Given the description of an element on the screen output the (x, y) to click on. 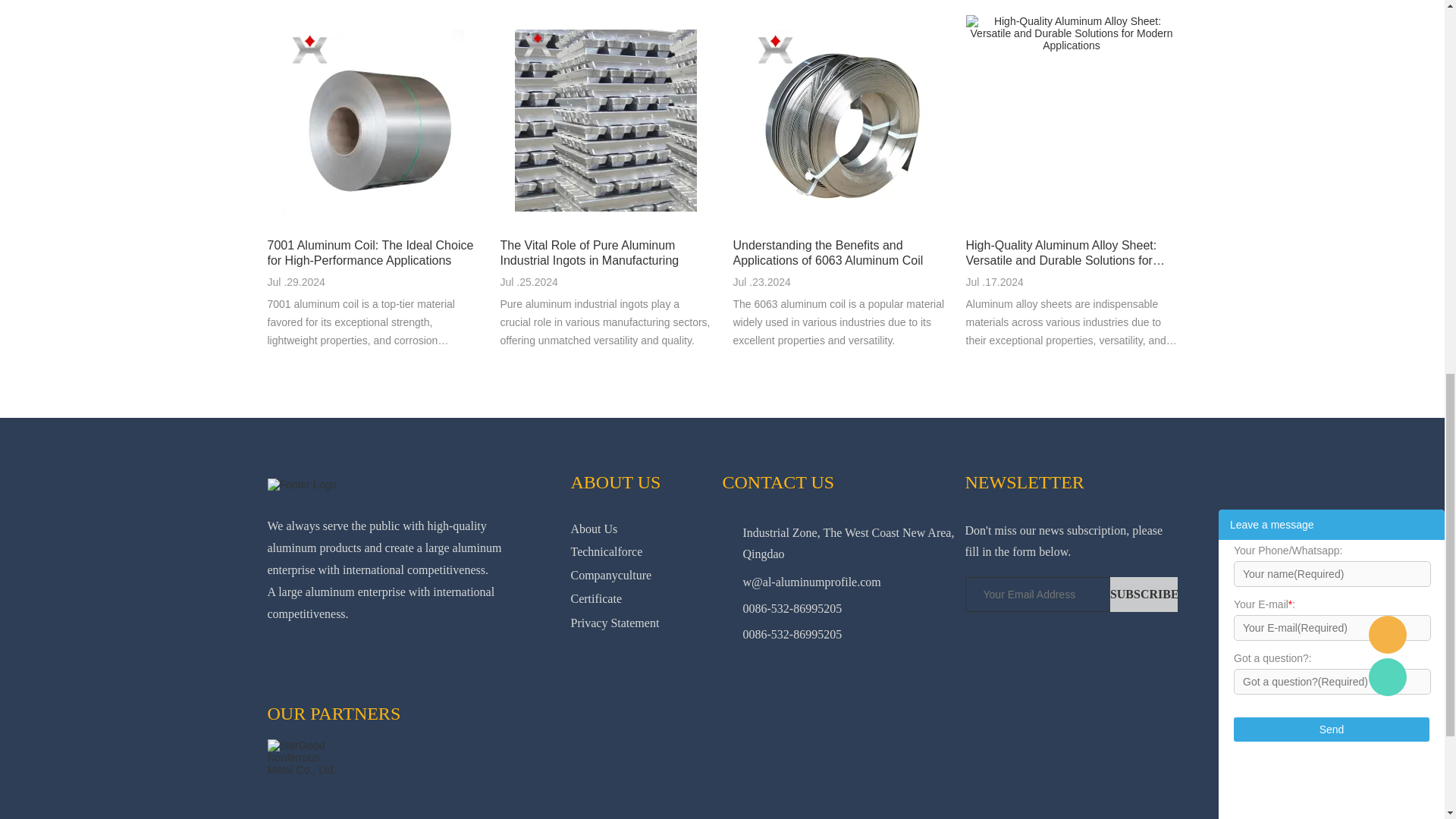
SUBSCRIBE (1143, 594)
